Given the description of an element on the screen output the (x, y) to click on. 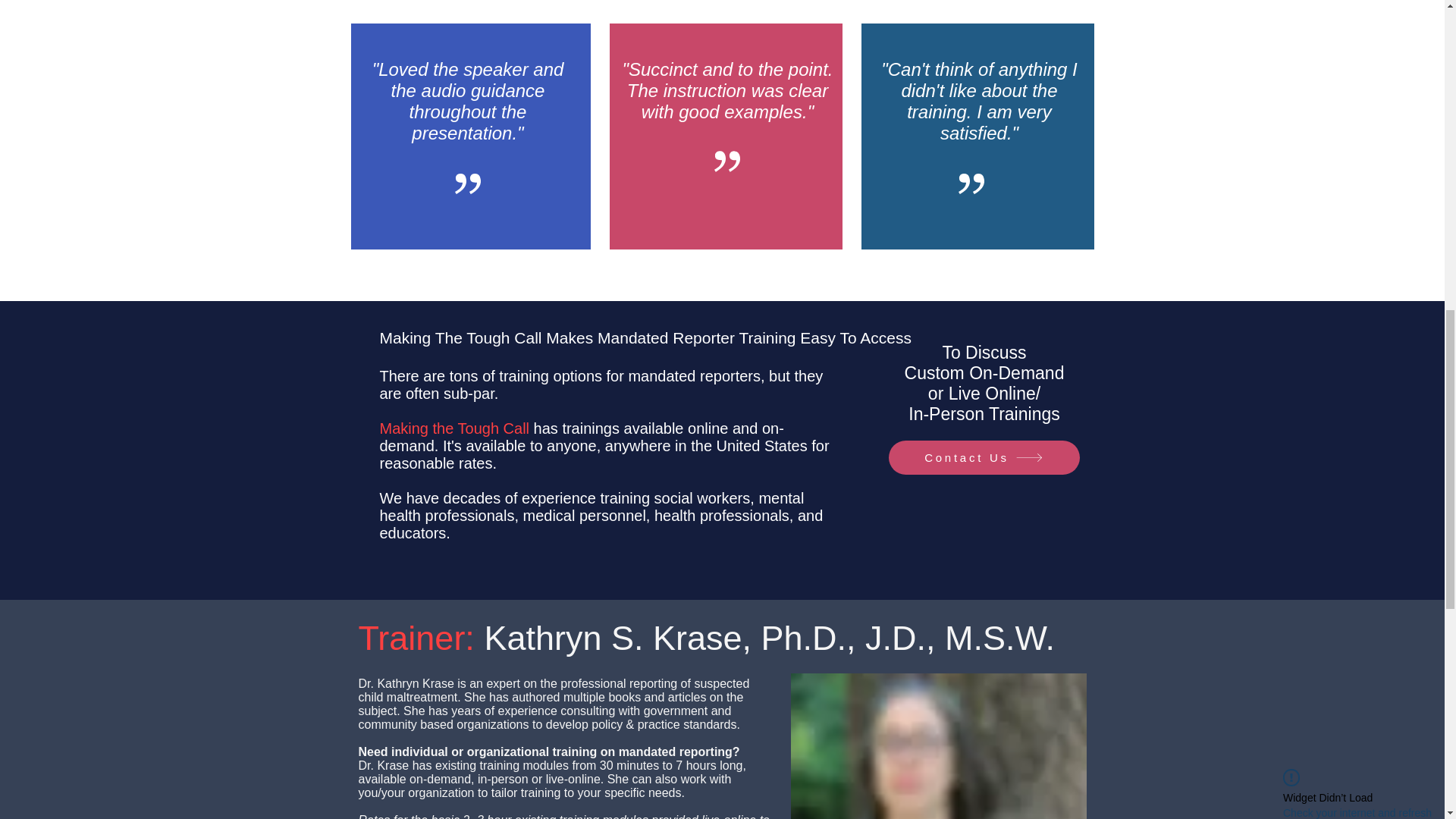
Contact Us (984, 457)
